Given the description of an element on the screen output the (x, y) to click on. 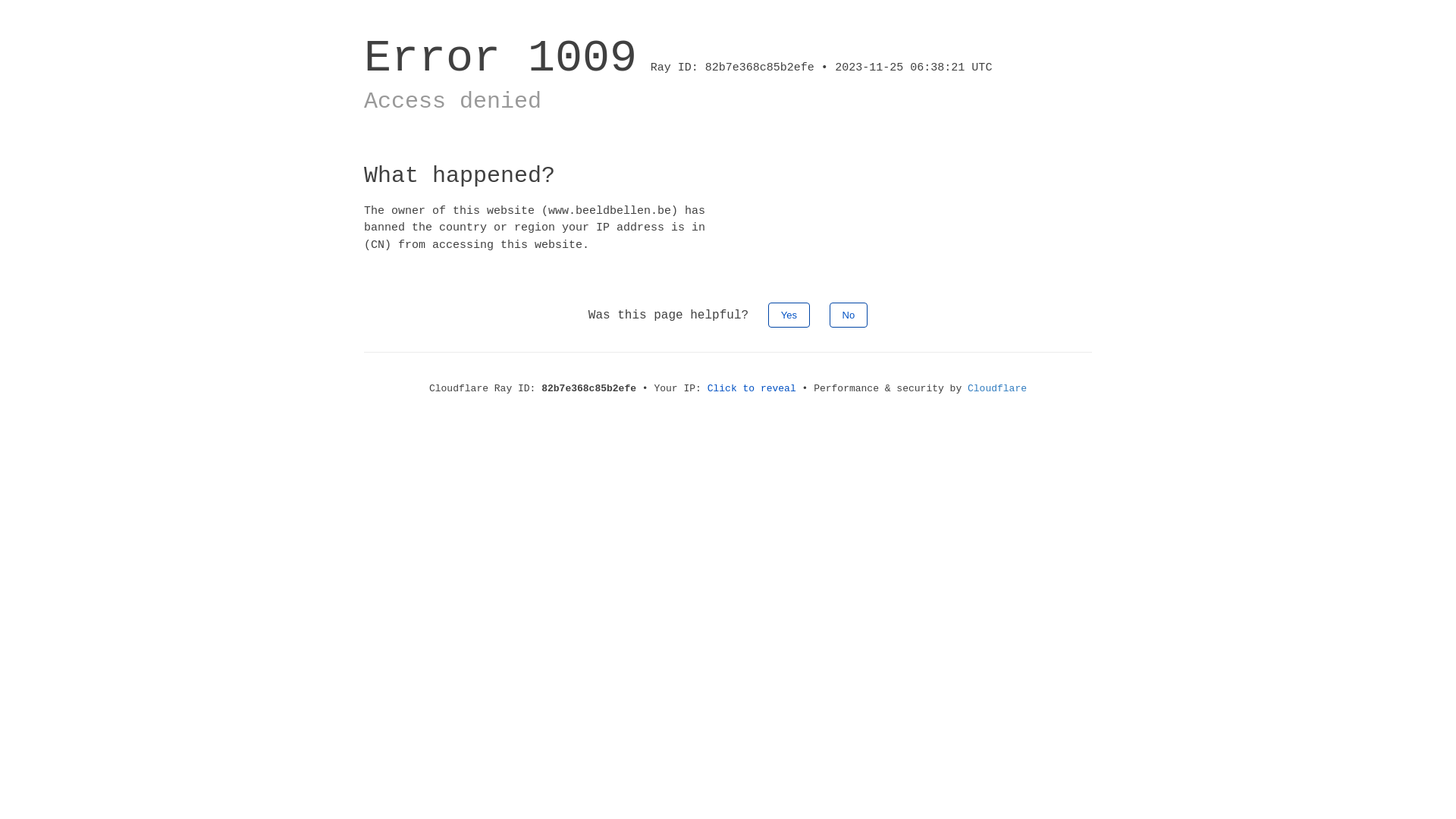
Click to reveal Element type: text (751, 388)
Cloudflare Element type: text (996, 388)
No Element type: text (848, 314)
Yes Element type: text (788, 314)
